Given the description of an element on the screen output the (x, y) to click on. 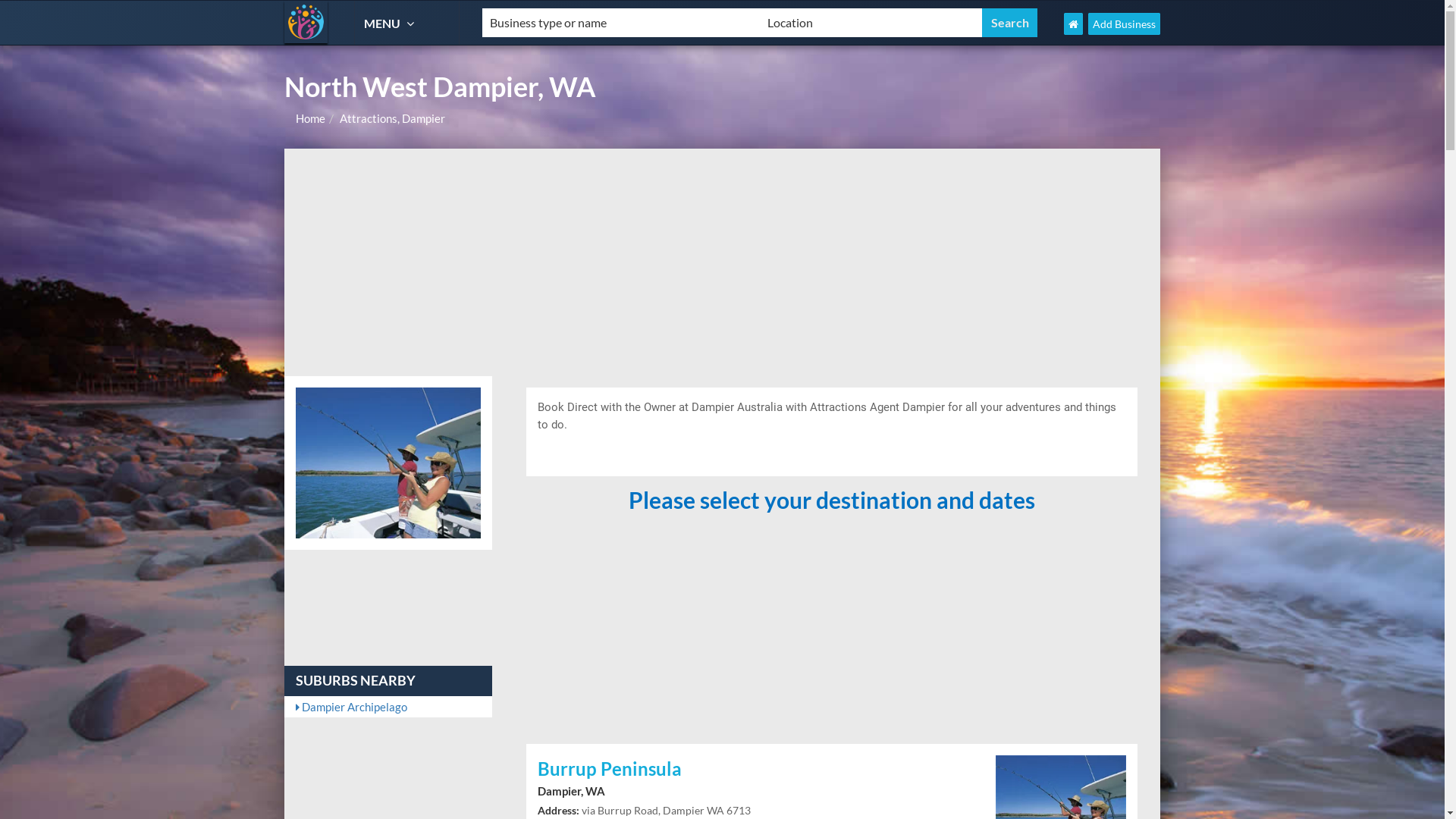
Search Element type: text (1009, 22)
More info on Burrup Peninsula Element type: hover (1060, 805)
Add Business Element type: text (1124, 23)
Burrup Peninsula Element type: text (755, 769)
Attractions, Dampier Element type: text (392, 118)
Attractions Element type: hover (305, 21)
Home Element type: text (310, 118)
Attractions Home Page Element type: hover (1072, 23)
Advertisement Element type: hover (722, 262)
MENU Element type: text (390, 22)
Dampier Archipelago Element type: text (388, 706)
Advertisement Element type: hover (831, 626)
